Given the description of an element on the screen output the (x, y) to click on. 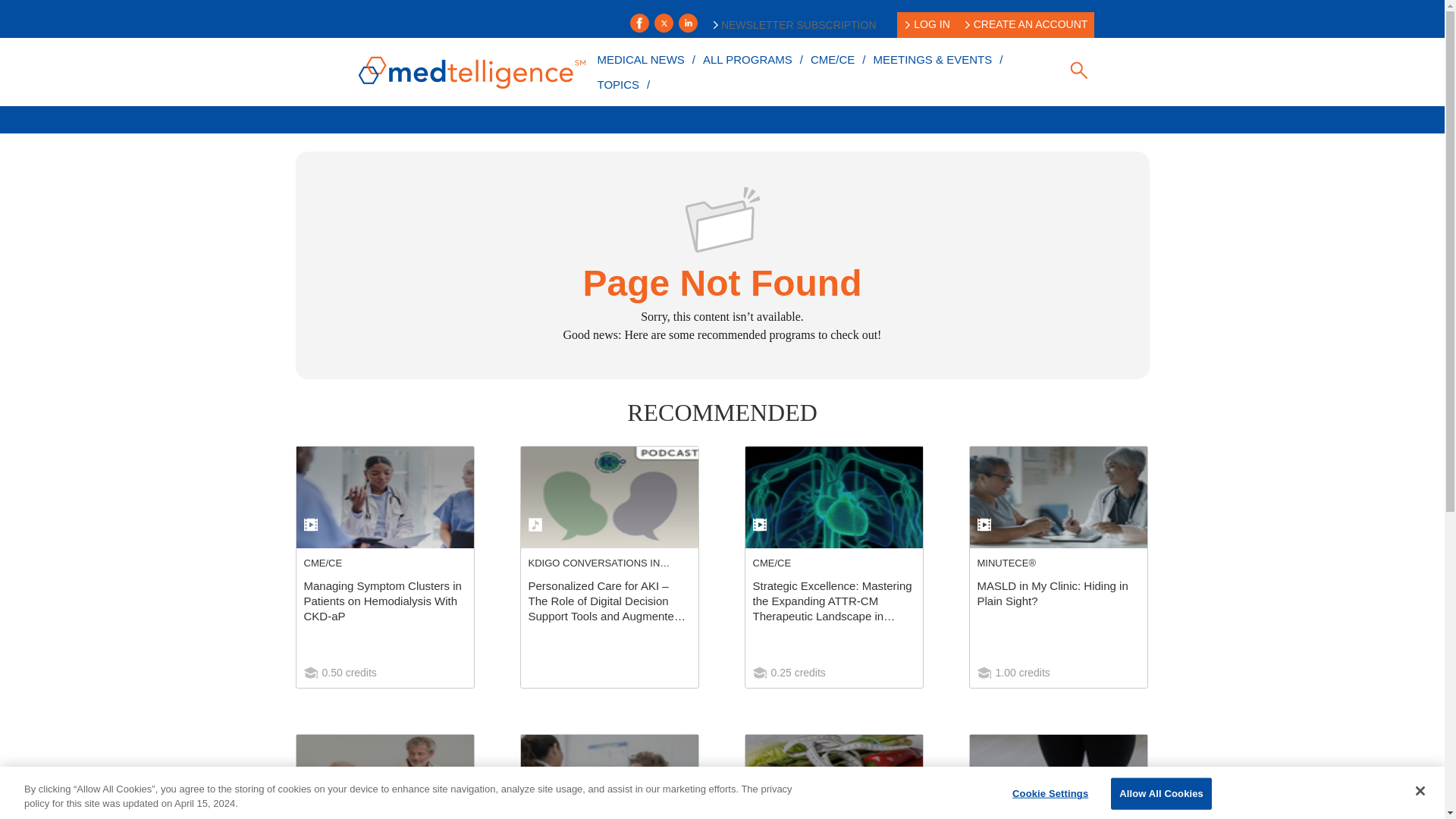
TOPICS (617, 83)
Medtelligence (471, 71)
LOG IN (927, 24)
LinkedIn (687, 22)
MEDICAL NEWS (639, 59)
Twitter (662, 22)
CREATE AN ACCOUNT (1026, 24)
NEWSLETTER SUBSCRIPTION (794, 24)
ALL PROGRAMS (747, 59)
